Given the description of an element on the screen output the (x, y) to click on. 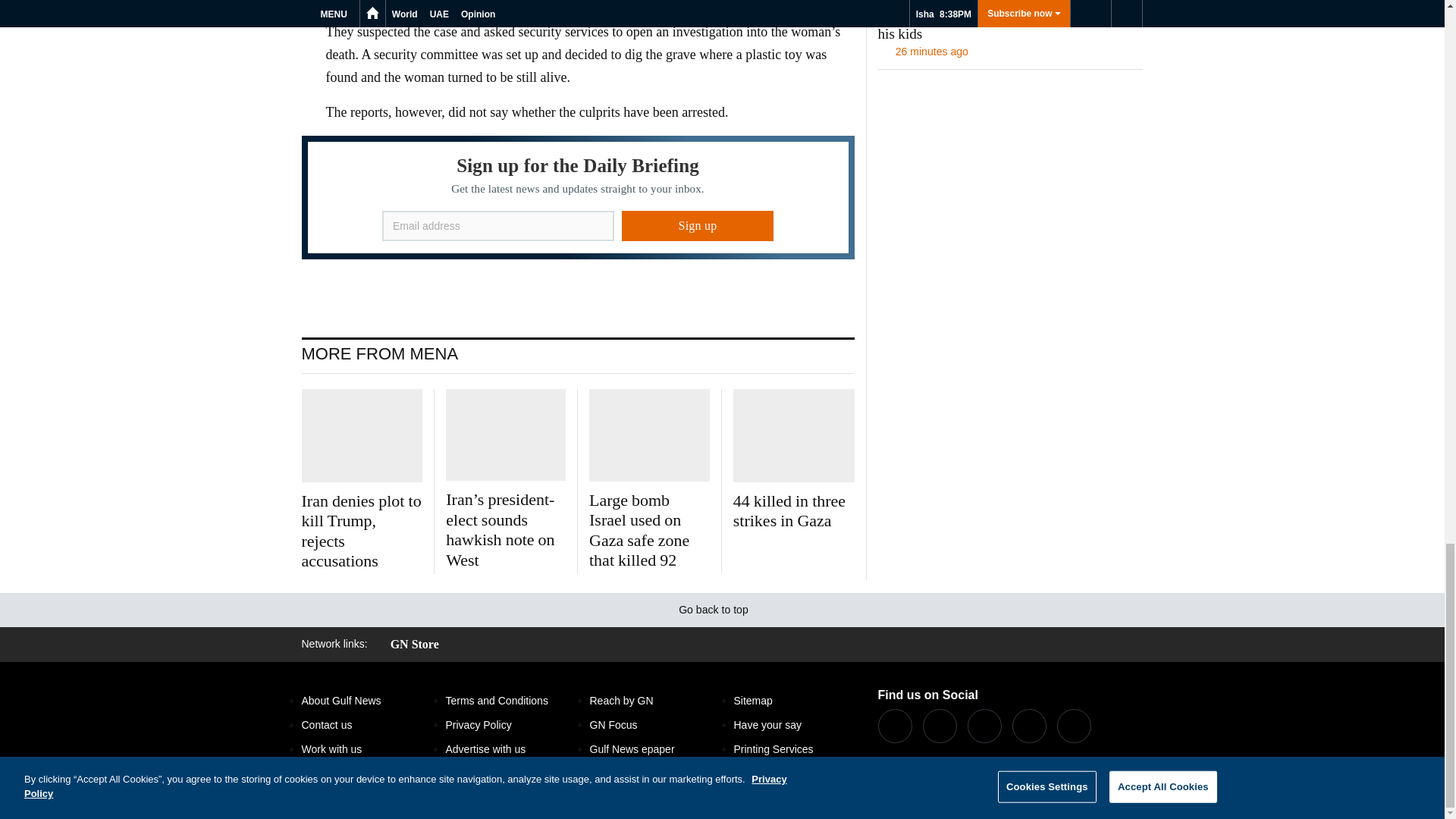
Sign up for the Daily Briefing (577, 197)
